Given the description of an element on the screen output the (x, y) to click on. 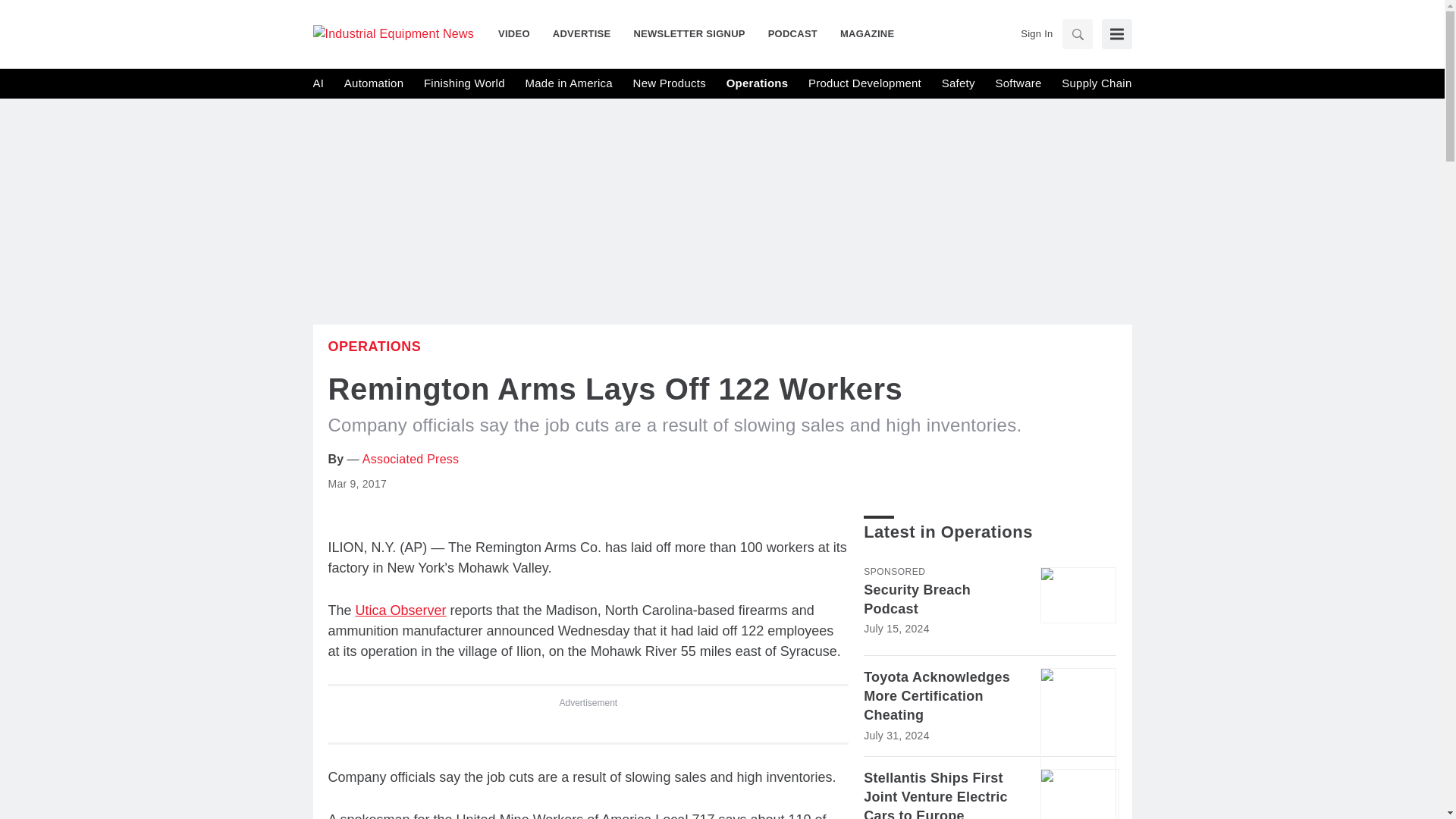
VIDEO (519, 33)
Finishing World (464, 83)
PODCAST (792, 33)
Software (1017, 83)
Sign In (1036, 33)
NEWSLETTER SIGNUP (688, 33)
Sponsored (893, 571)
Operations (373, 346)
Safety (958, 83)
Made in America (567, 83)
Operations (757, 83)
ADVERTISE (582, 33)
New Products (669, 83)
MAGAZINE (860, 33)
Product Development (864, 83)
